Given the description of an element on the screen output the (x, y) to click on. 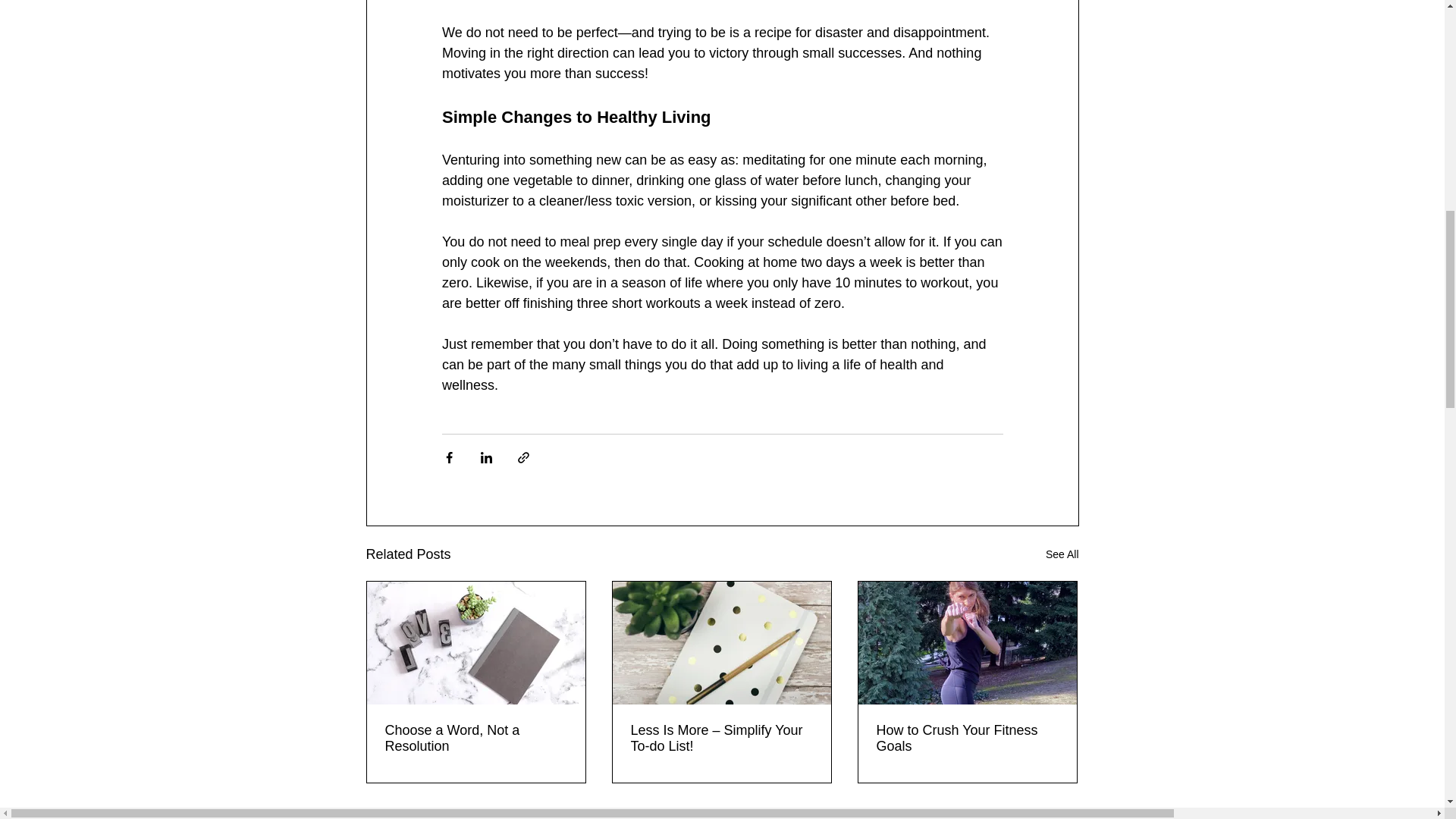
How to Crush Your Fitness Goals (967, 738)
Choose a Word, Not a Resolution (476, 738)
See All (1061, 554)
